Given the description of an element on the screen output the (x, y) to click on. 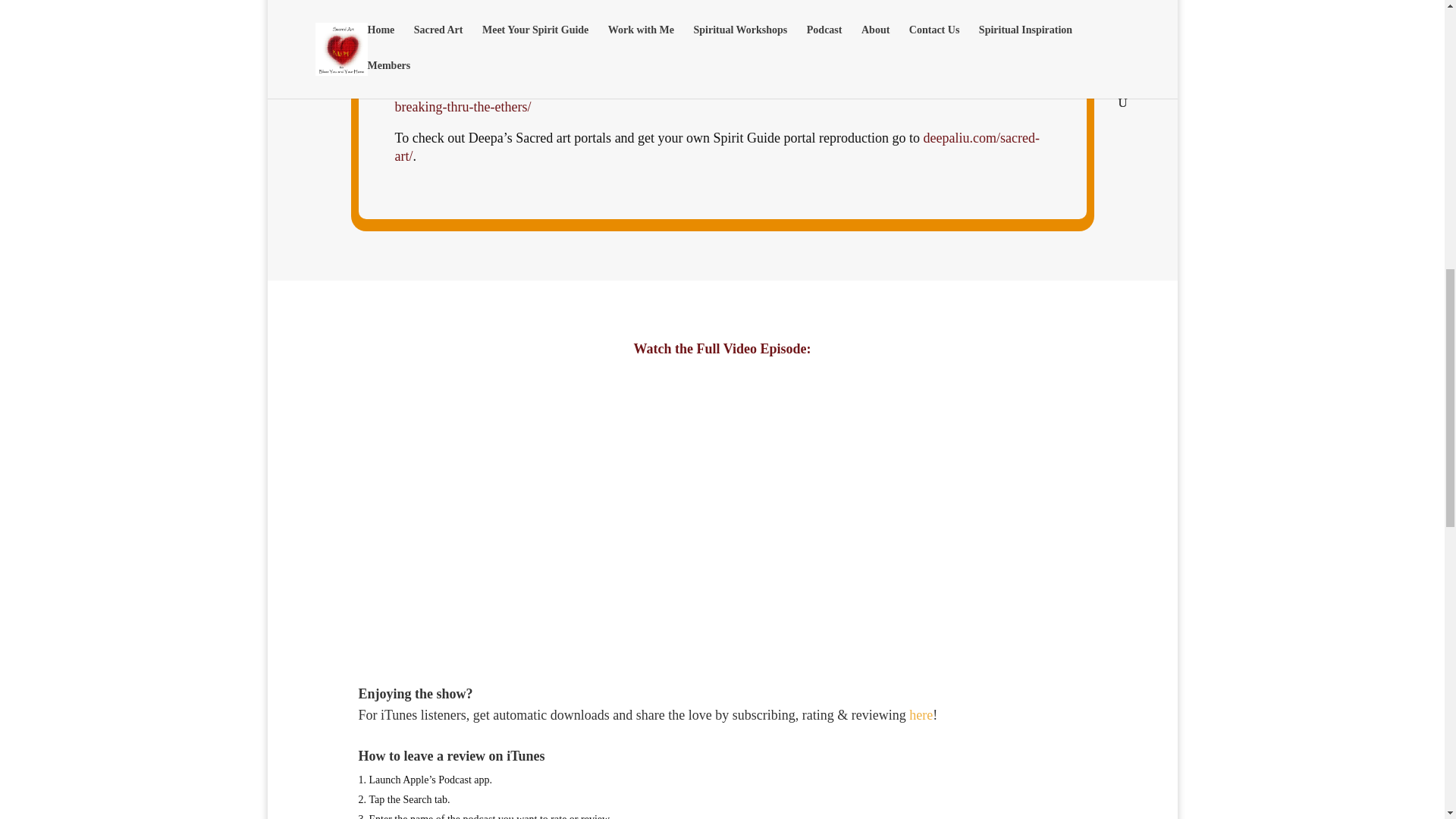
free gift (614, 39)
here (920, 714)
